Given the description of an element on the screen output the (x, y) to click on. 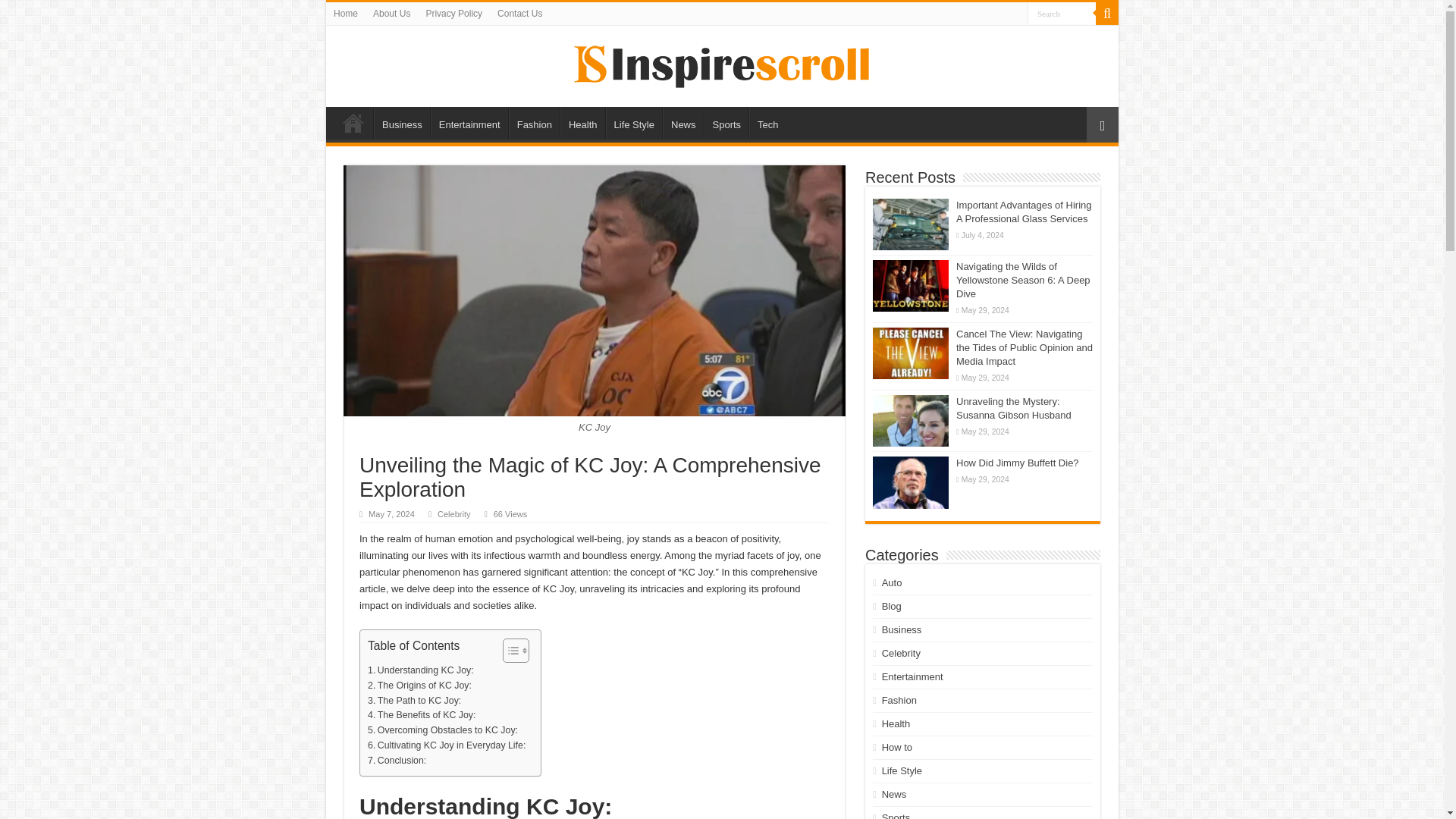
Search (1061, 13)
The Origins of KC Joy:  (421, 685)
Conclusion:  (398, 761)
Business (401, 122)
Contact Us (519, 13)
Life Style (633, 122)
Search (1061, 13)
Celebrity (454, 513)
The Benefits of KC Joy:  (423, 715)
Tech (767, 122)
